Given the description of an element on the screen output the (x, y) to click on. 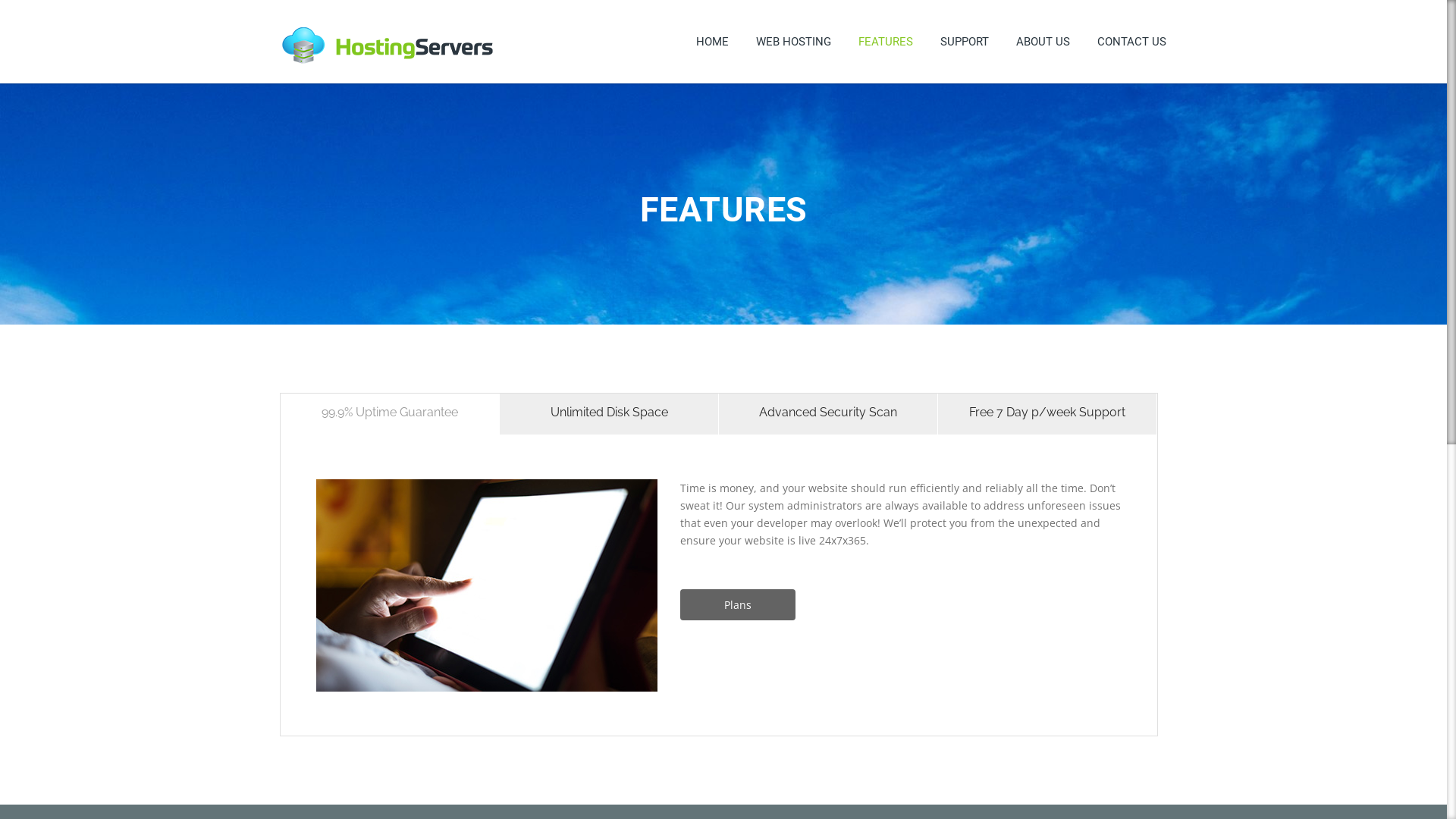
ABOUT US Element type: text (1042, 41)
Advanced Security Scan Element type: text (828, 413)
SUPPORT Element type: text (964, 41)
99.9% Uptime Guarantee Element type: text (389, 413)
HOME Element type: text (712, 41)
FEATURES Element type: text (885, 41)
Unlimited Disk Space Element type: text (608, 413)
Plans Element type: text (737, 604)
WEB HOSTING Element type: text (793, 41)
Free 7 Day p/week Support Element type: text (1047, 413)
CONTACT US Element type: text (1131, 41)
